Given the description of an element on the screen output the (x, y) to click on. 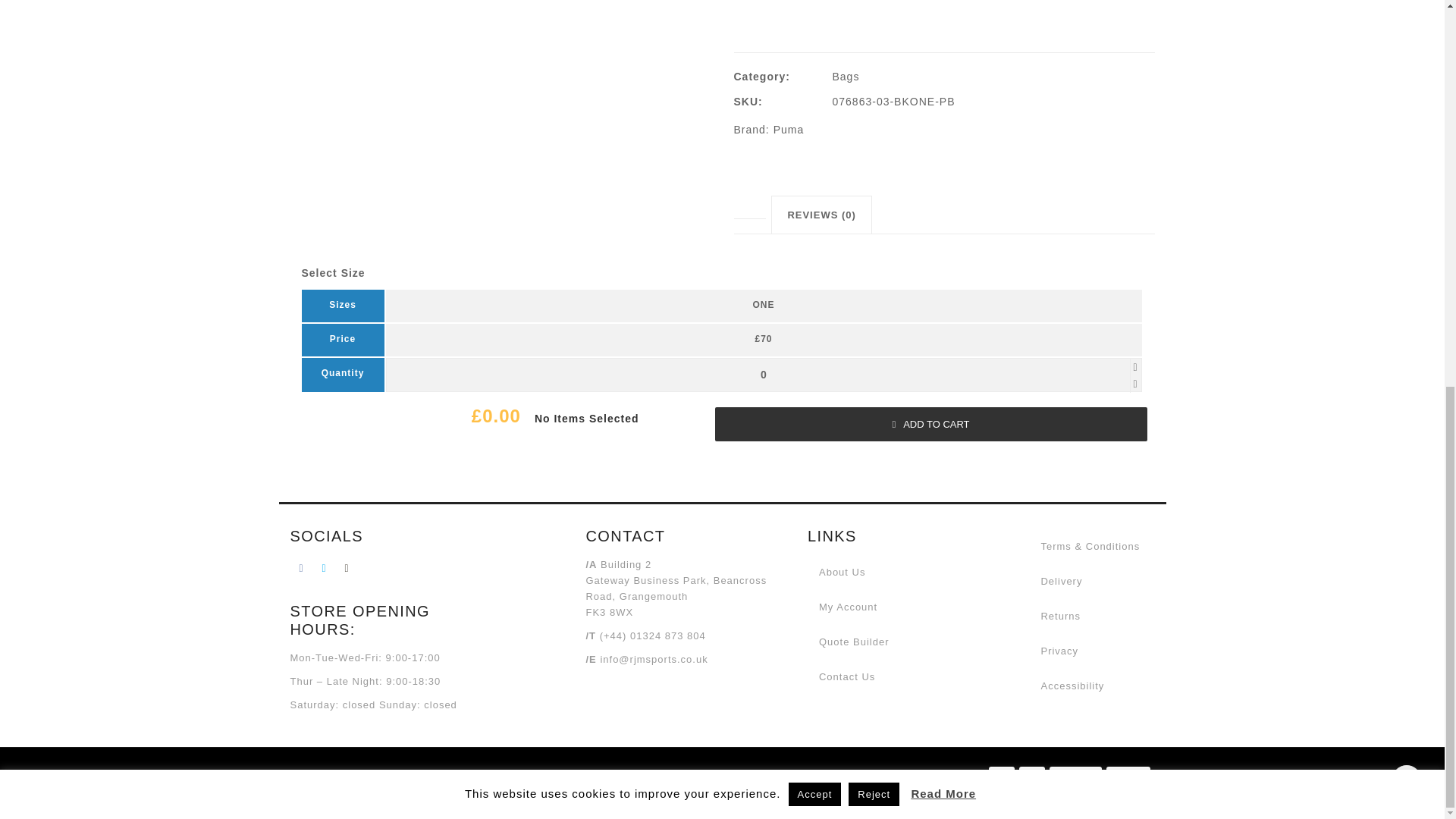
Qty (764, 374)
Back to top (1406, 49)
0 (764, 374)
